Given the description of an element on the screen output the (x, y) to click on. 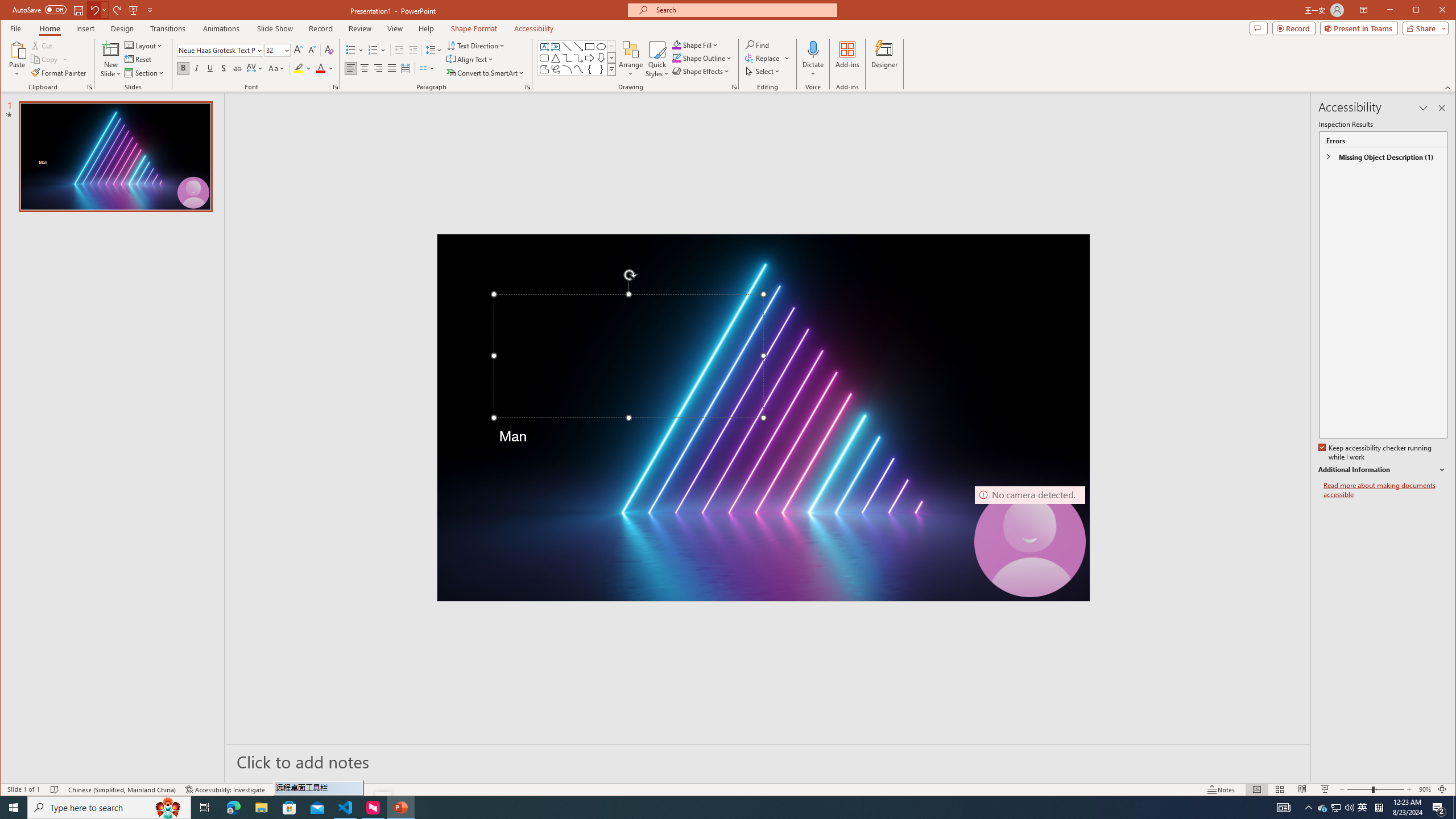
Section (144, 72)
Running applications (700, 807)
Font (219, 49)
Replace... (1335, 807)
Curve (768, 57)
Connector: Elbow Arrow (1322, 807)
User Promoted Notification Area (577, 69)
Layout (577, 57)
Rectangle: Rounded Corners (1336, 807)
